Given the description of an element on the screen output the (x, y) to click on. 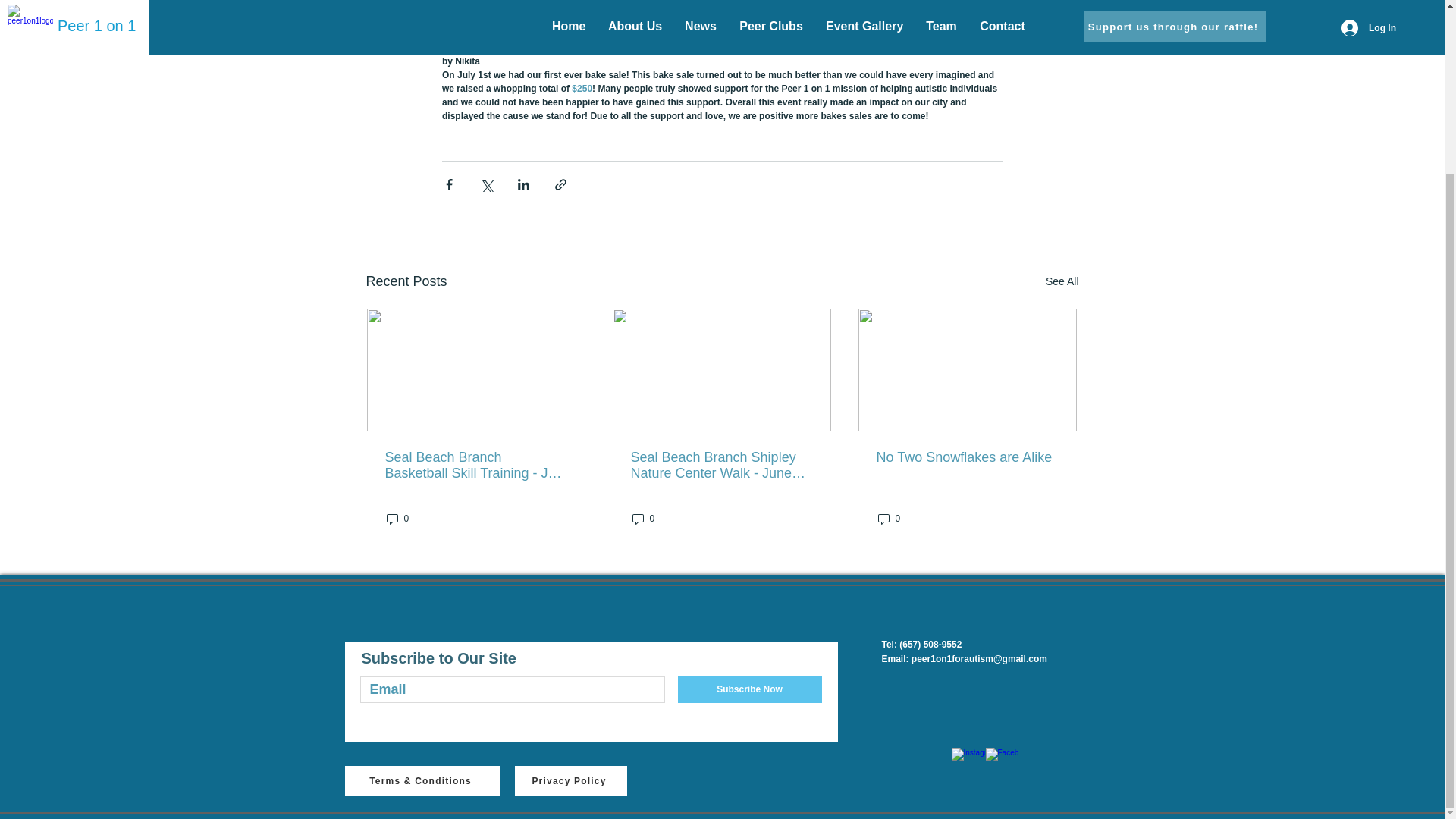
0 (397, 518)
See All (1061, 281)
0 (643, 518)
No Two Snowflakes are Alike (967, 457)
Seal Beach Branch Shipley Nature Center Walk - June 17, 2023 (721, 465)
Seal Beach Branch Basketball Skill Training - July 14, 2023 (476, 465)
